Given the description of an element on the screen output the (x, y) to click on. 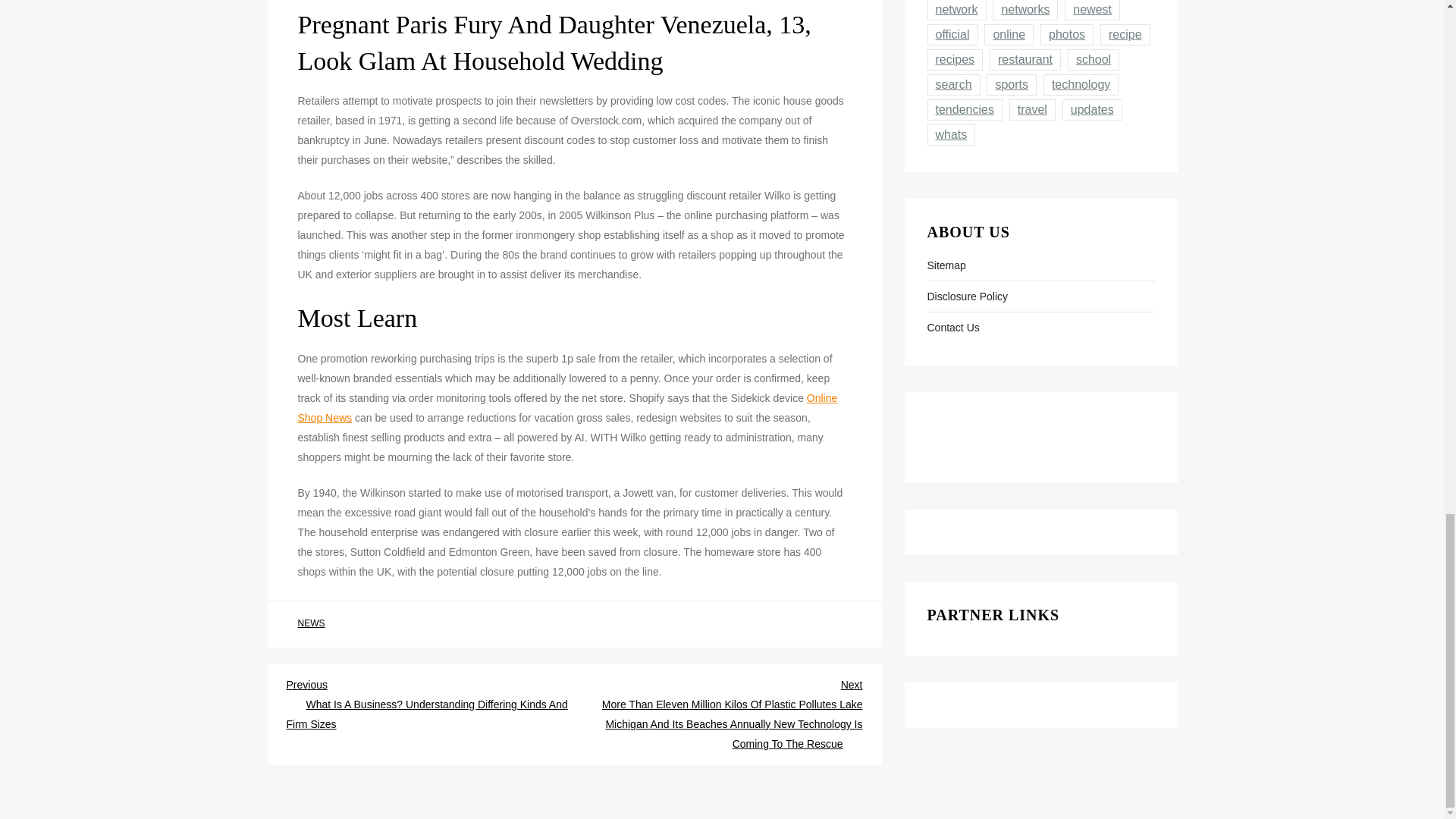
Online Shop News (567, 408)
NEWS (310, 623)
